Given the description of an element on the screen output the (x, y) to click on. 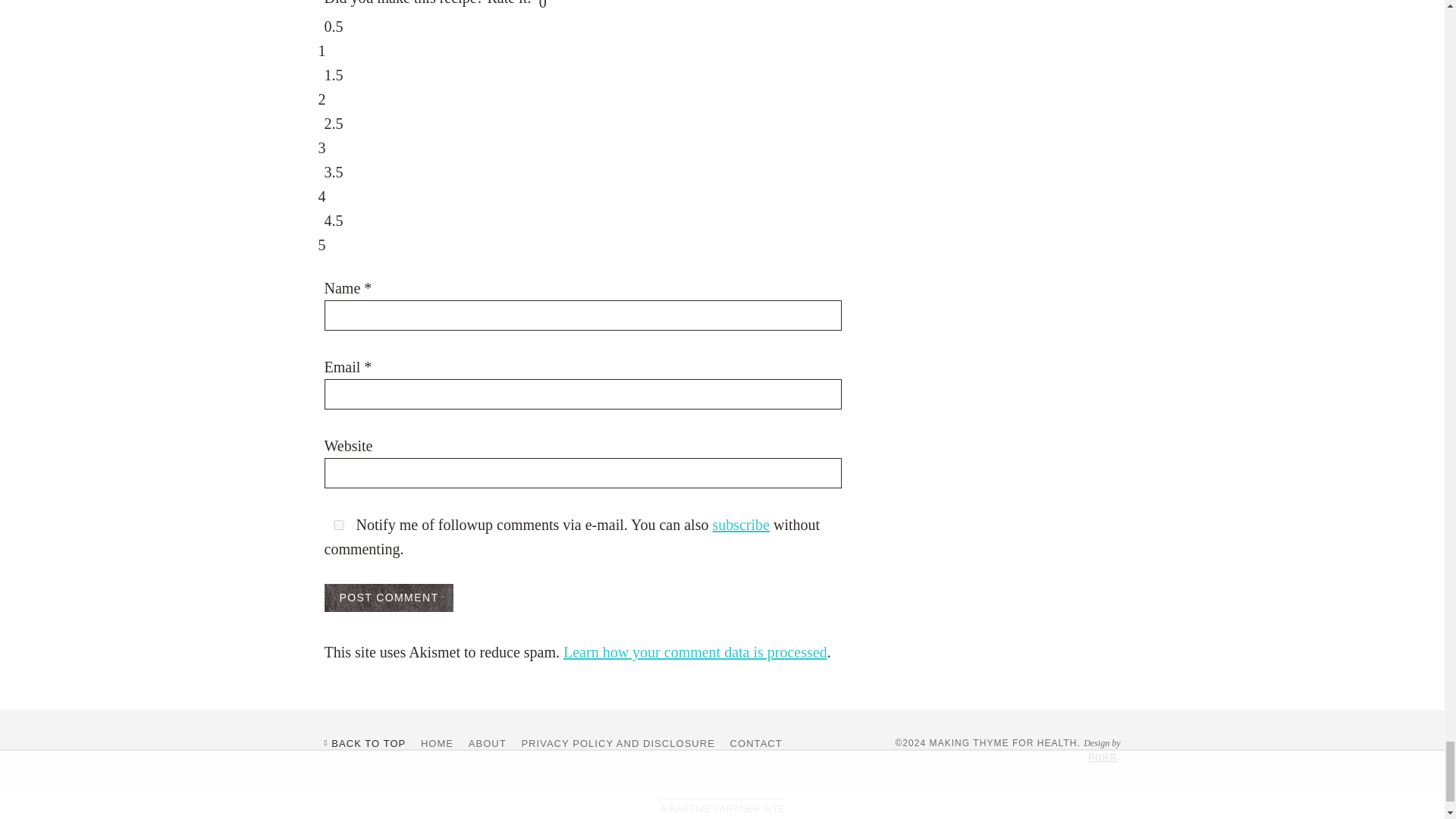
Post Comment (389, 597)
yes (338, 524)
